Given the description of an element on the screen output the (x, y) to click on. 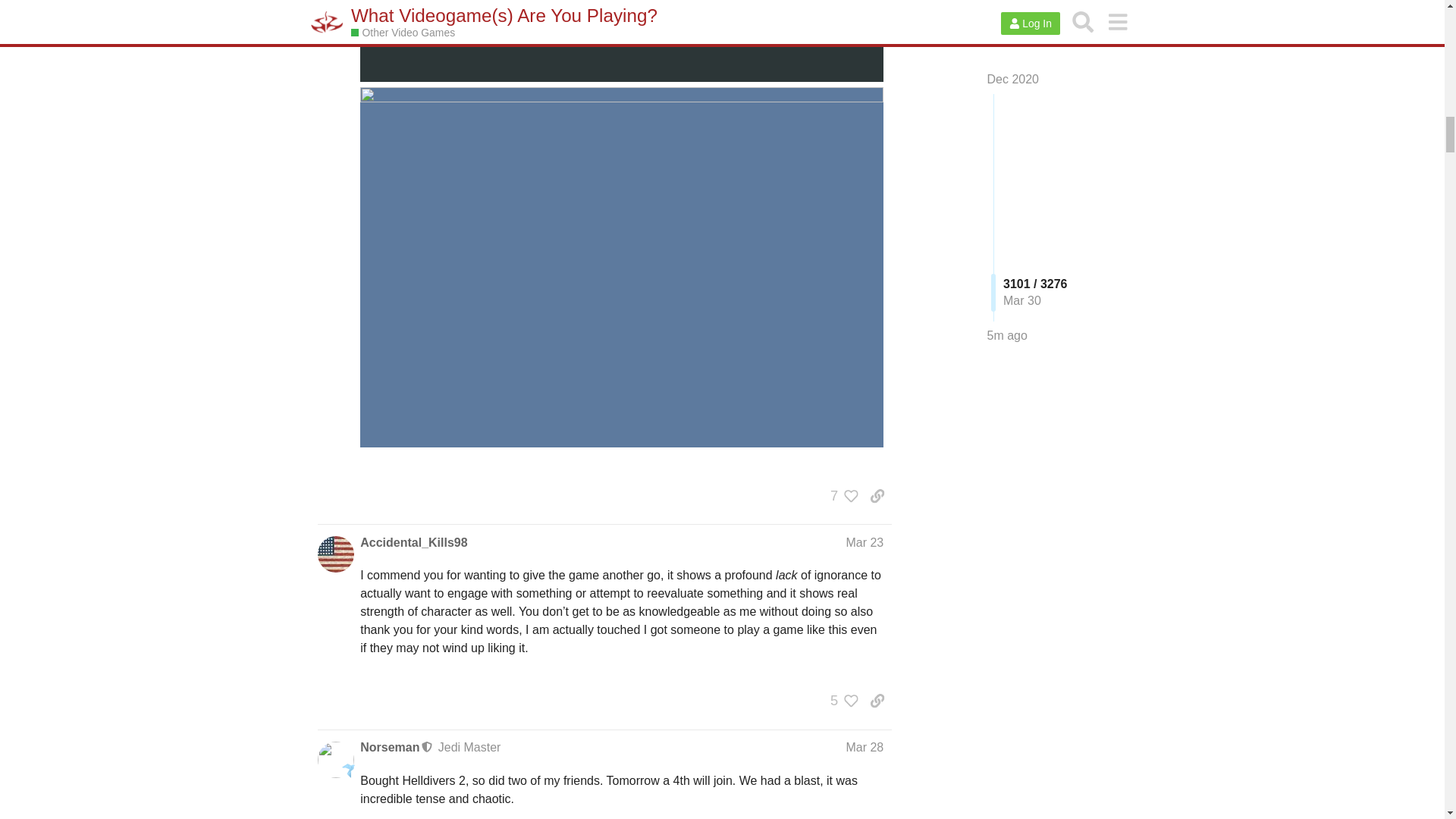
7 (840, 495)
